Given the description of an element on the screen output the (x, y) to click on. 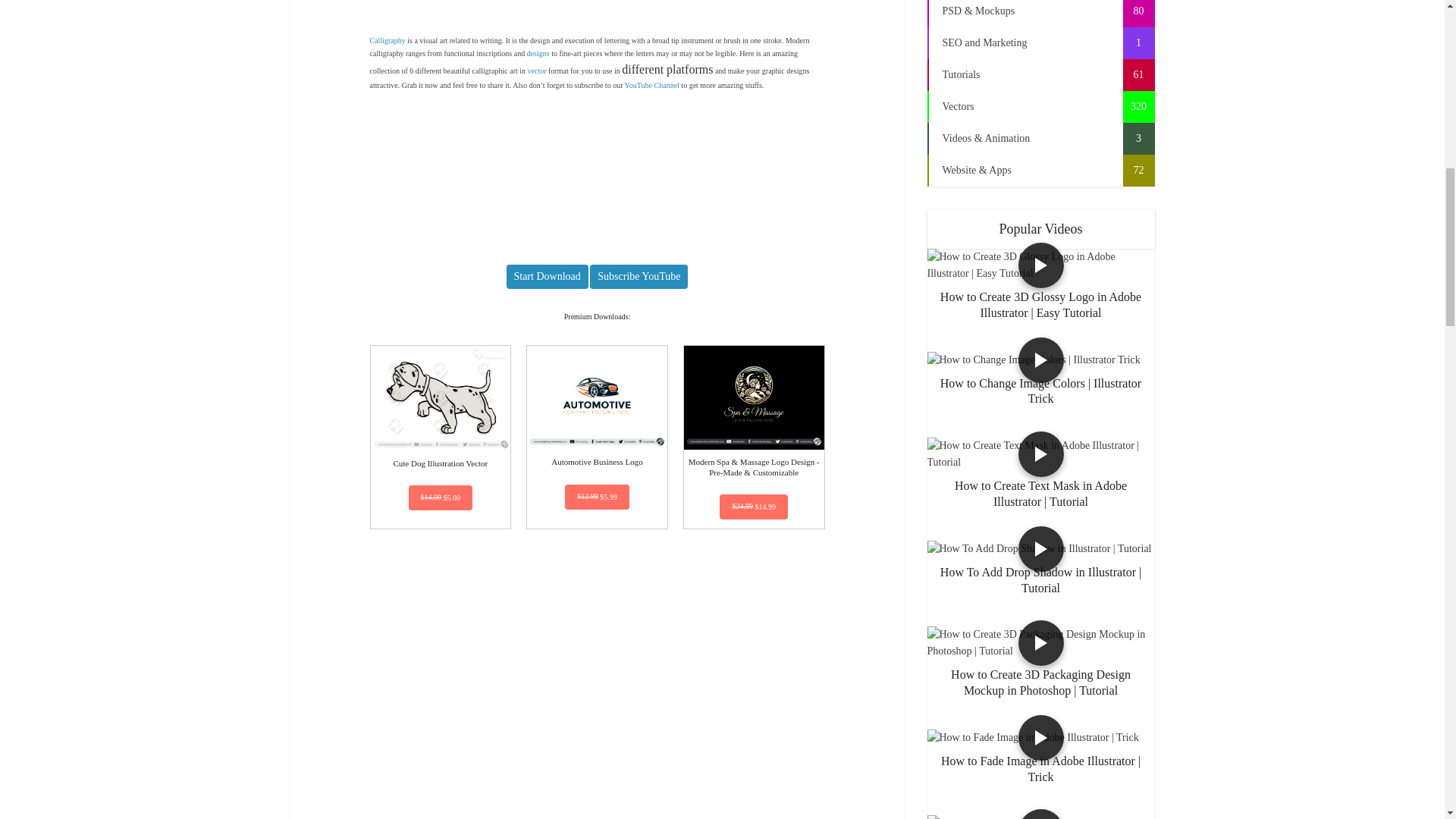
Subscribe YouTube (638, 276)
Start Download (547, 276)
designs (538, 53)
vector (537, 70)
Cute Dog Illustration Vector (440, 406)
YouTube Channel (651, 85)
Calligraphy (387, 40)
